Given the description of an element on the screen output the (x, y) to click on. 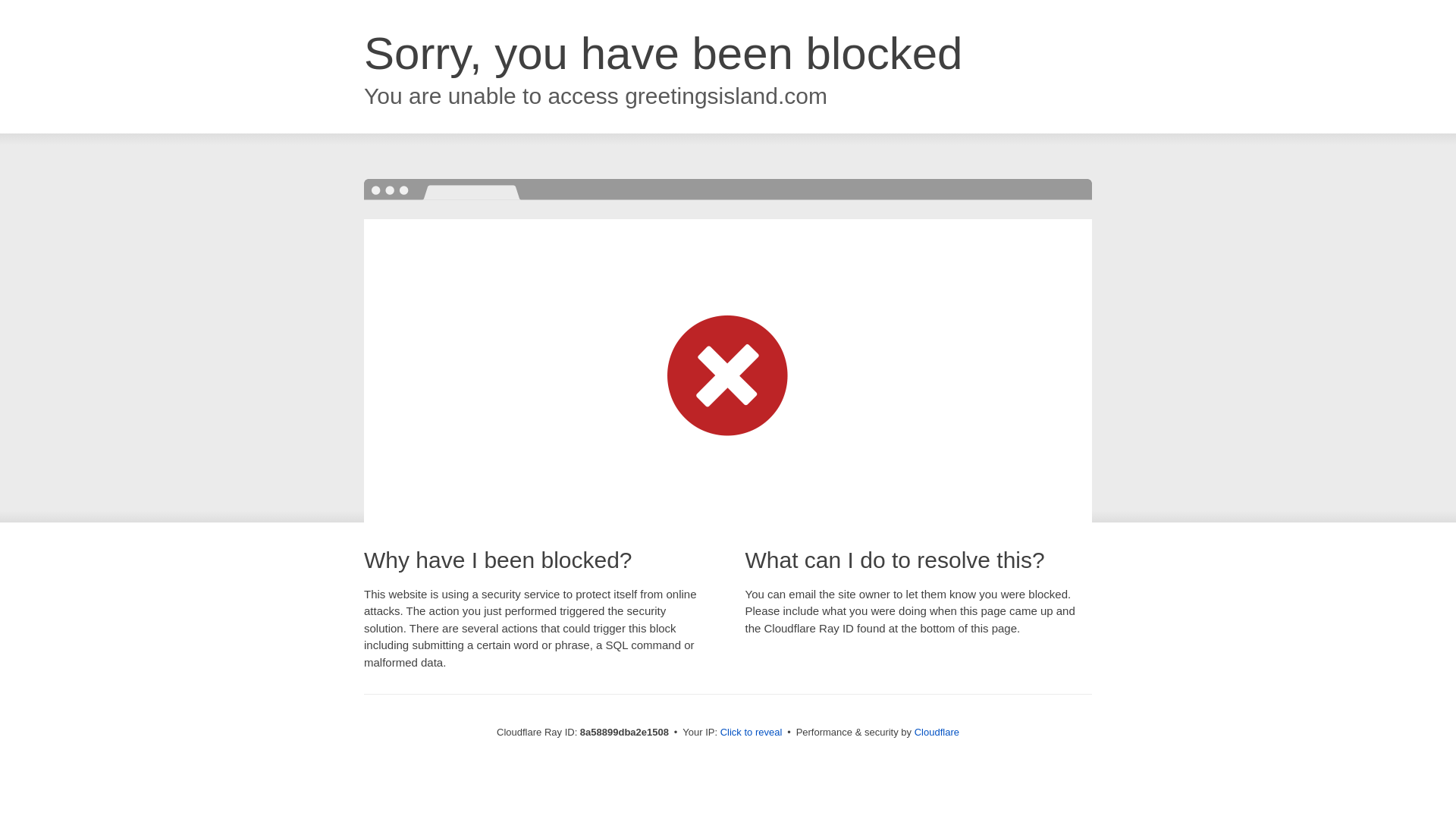
Cloudflare (936, 731)
Click to reveal (751, 732)
